Given the description of an element on the screen output the (x, y) to click on. 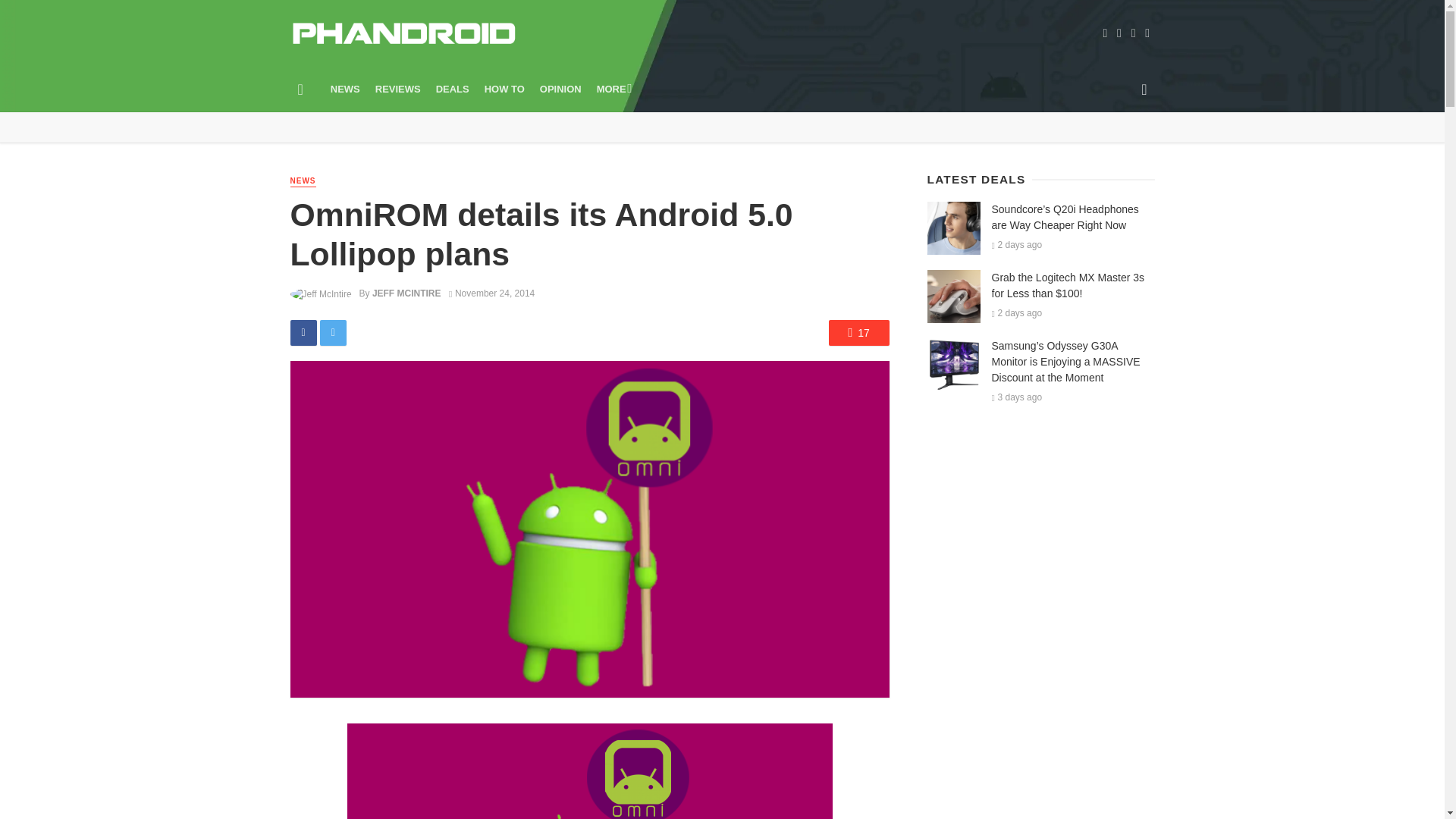
NEWS (302, 181)
17 (858, 332)
DEALS (452, 89)
November 24, 2014 at 4:06 pm (491, 293)
JEFF MCINTIRE (406, 293)
Posts by Jeff McIntire (406, 293)
OPINION (560, 89)
Share on Twitter (333, 332)
Share on Facebook (302, 332)
HOW TO (504, 89)
NEWS (345, 89)
MORE (612, 89)
REVIEWS (398, 89)
17 Comments (858, 332)
